Given the description of an element on the screen output the (x, y) to click on. 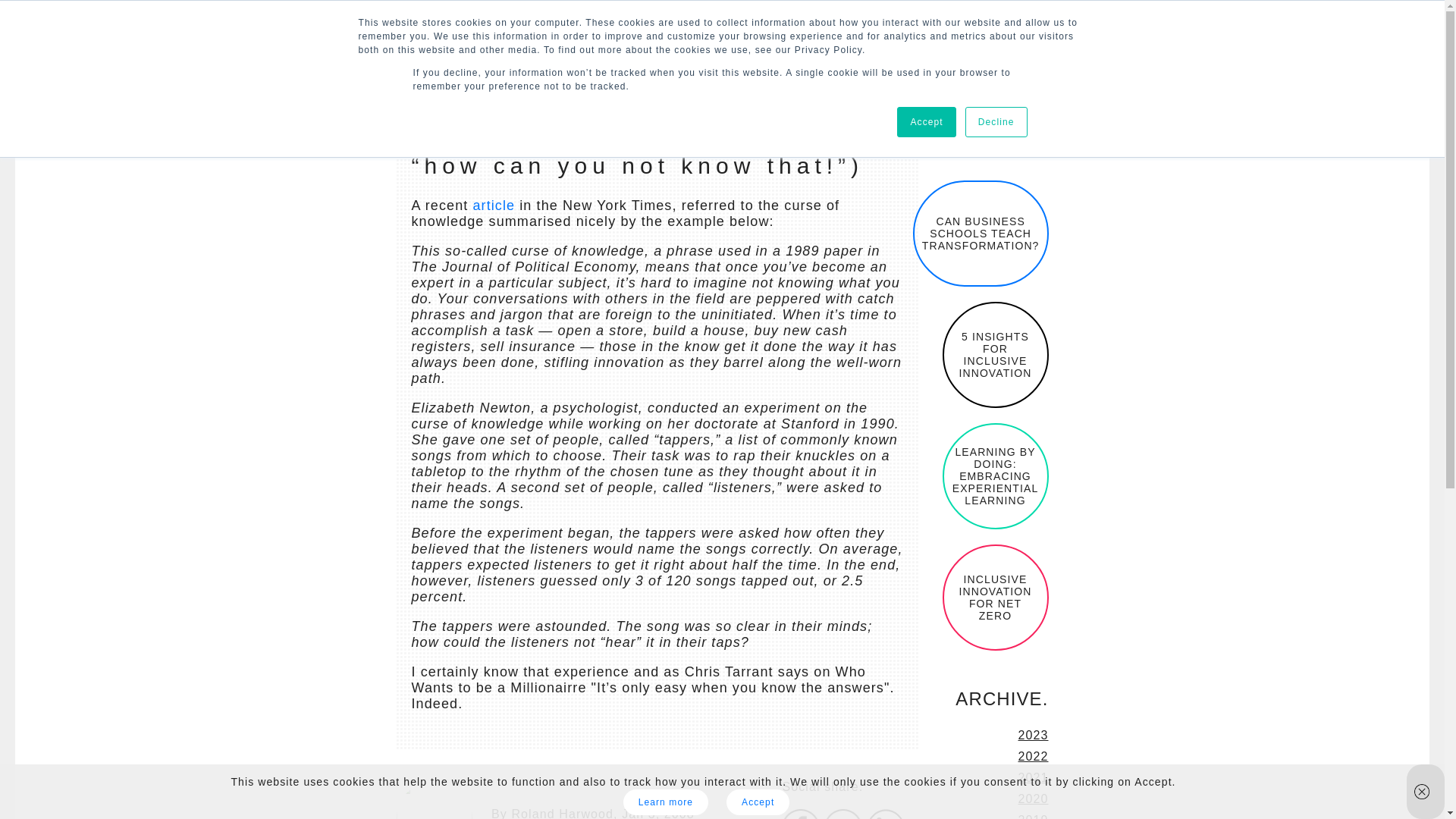
INCLUSIVE INNOVATION FOR NET ZERO (995, 597)
WORK (415, 45)
2021 (1032, 777)
CONTACT (1093, 45)
LEARNING BY DOING: EMBRACING EXPERIENTIAL LEARNING (995, 476)
TOOLKIT (604, 45)
2022 (1032, 756)
UNION (931, 45)
Accept (925, 122)
2019 (1032, 816)
Decline (996, 122)
PEOPLE (846, 45)
5 INSIGHTS FOR INCLUSIVE INNOVATION (995, 354)
article (493, 205)
2023 (1032, 735)
